Given the description of an element on the screen output the (x, y) to click on. 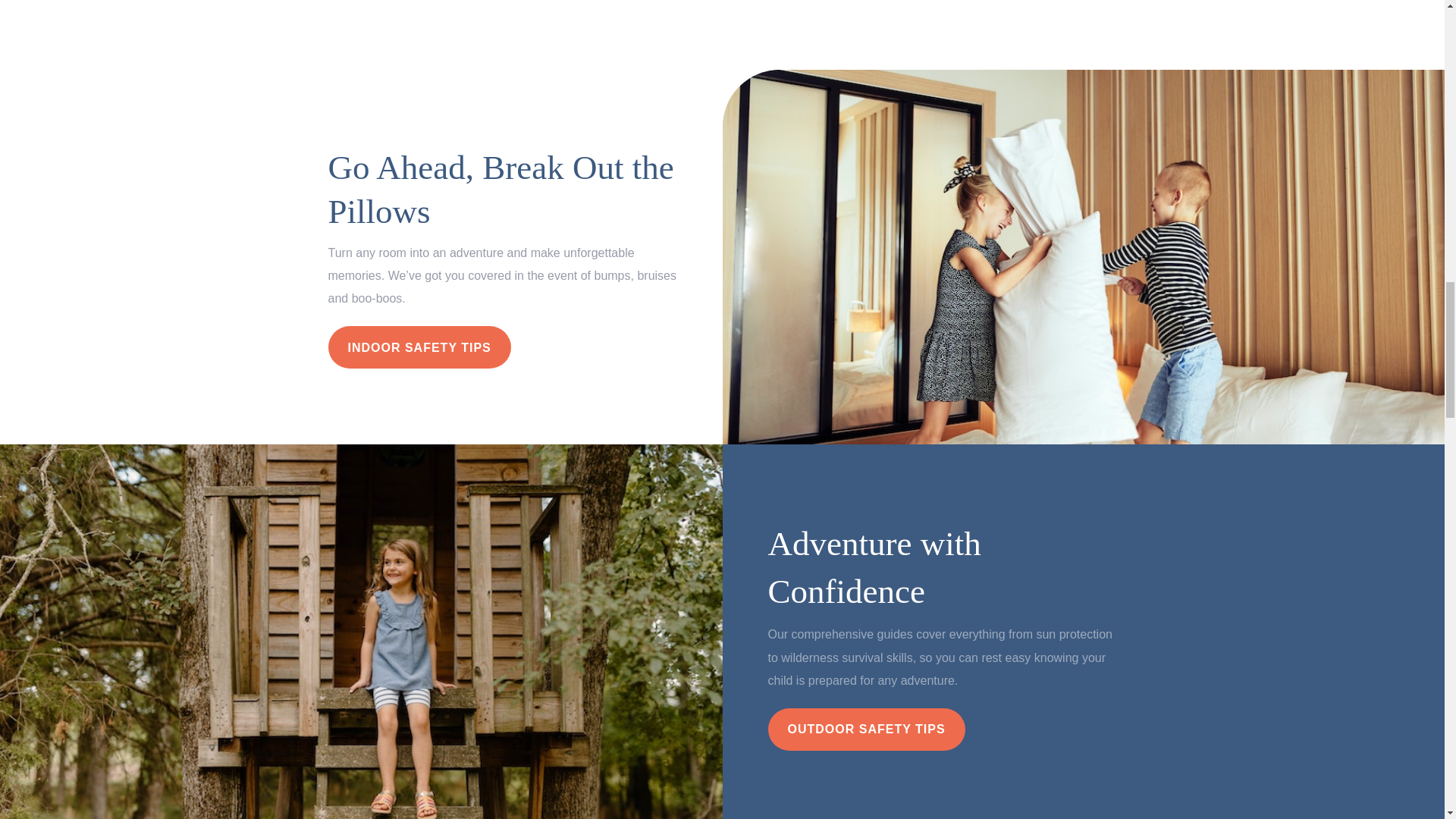
OUTDOOR SAFETY TIPS (865, 729)
INDOOR SAFETY TIPS (419, 347)
